Given the description of an element on the screen output the (x, y) to click on. 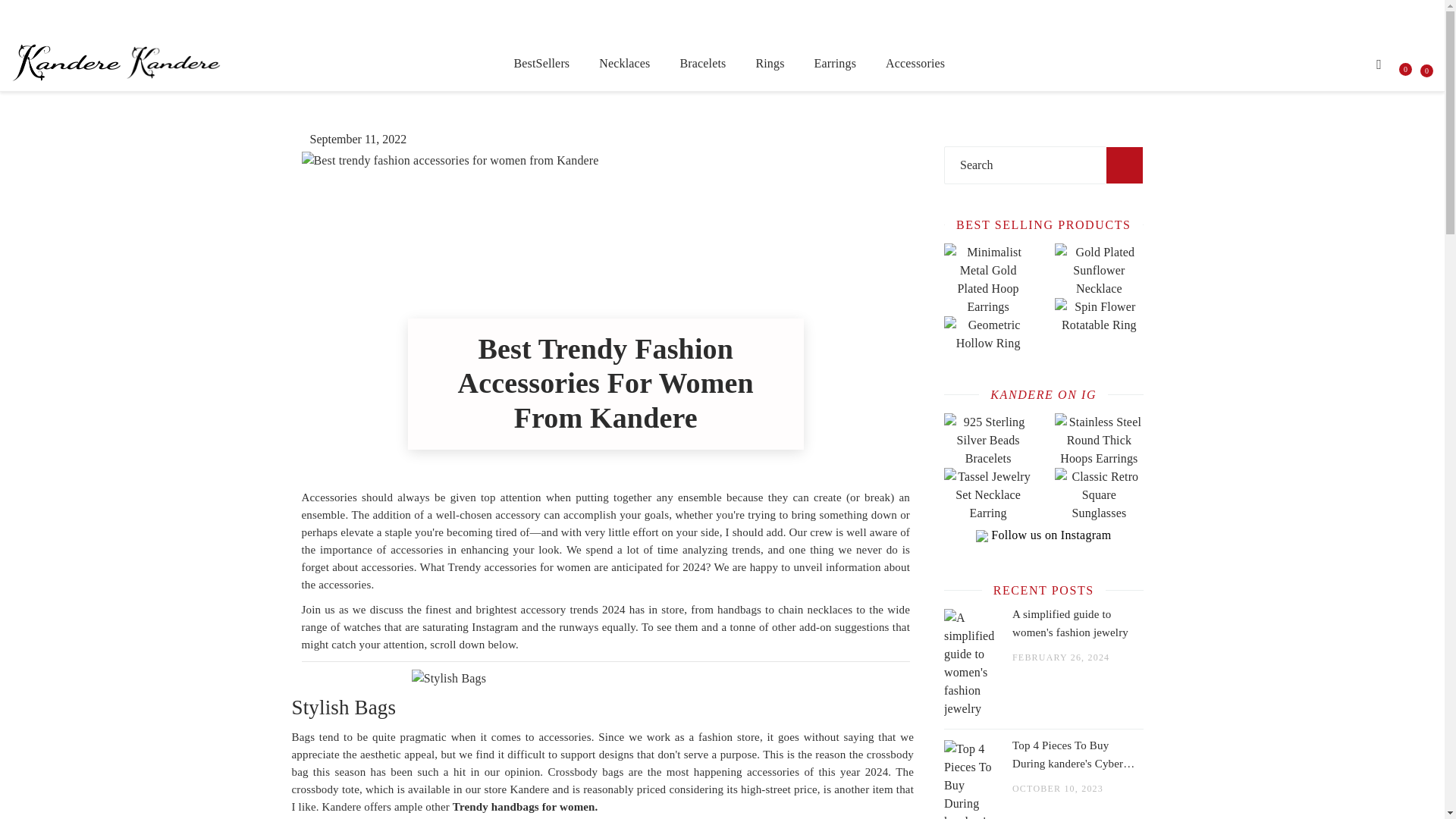
Top 4 Pieces To Buy During kandere's Cyber Monday jewelry (1076, 754)
Classic Retro Square Sunglasses (1098, 540)
925 Sterling Silver Beads Bracelets (987, 458)
Stainless Steel Round Thick Hoops Earrings (1098, 458)
Tassel Jewelry Set Necklace Earring (987, 540)
Spin Flower Rotatable Ring (1098, 342)
Minimalist Metal Gold Plated Hoop Earrings (987, 306)
A simplified guide to women's fashion jewelry (1076, 623)
Gold Plated Sunflower Necklace (1098, 287)
Geometric Hollow Ring (987, 360)
